Given the description of an element on the screen output the (x, y) to click on. 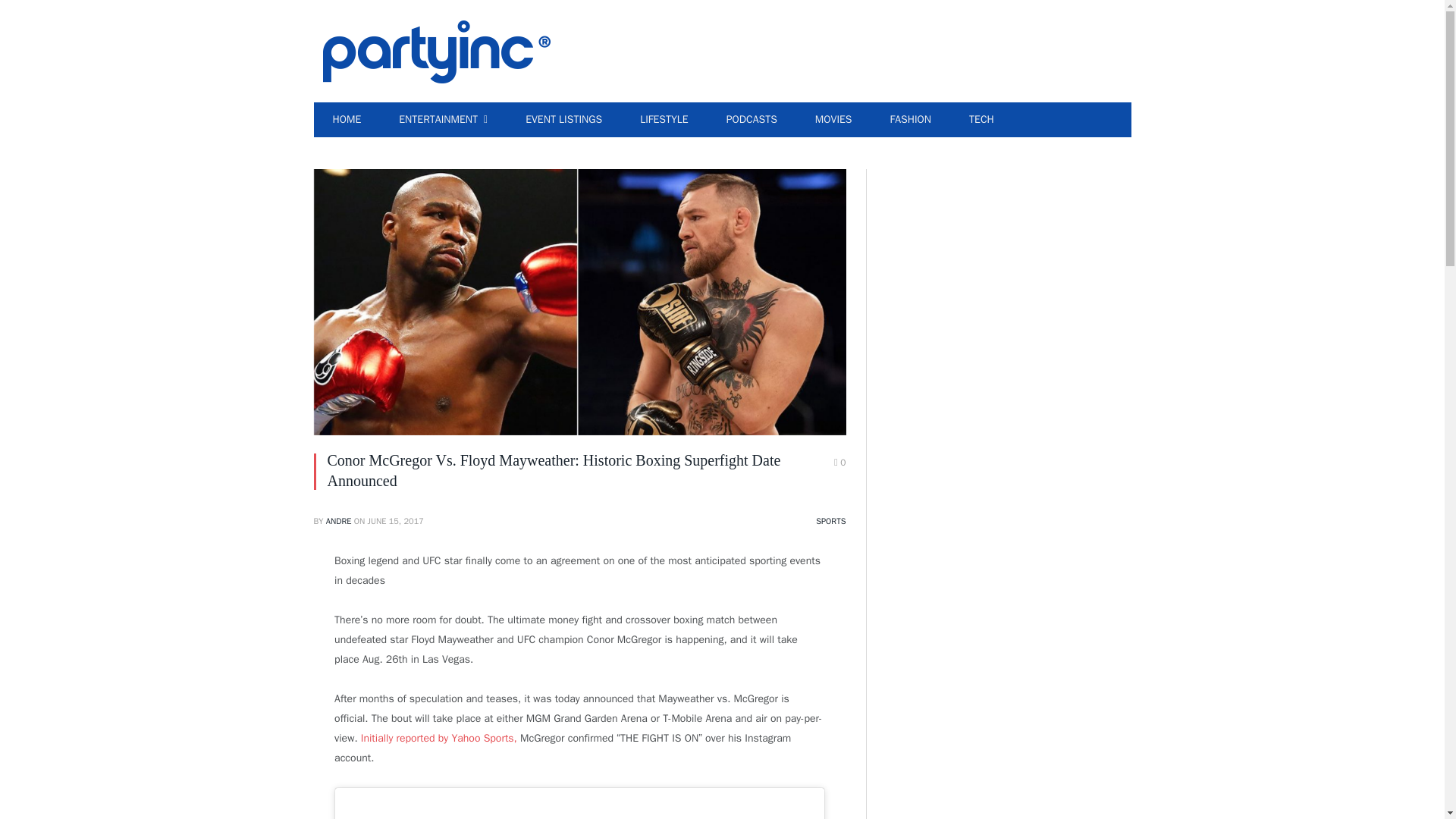
Initially reported by Yahoo Sports, (438, 738)
SPORTS (830, 520)
Posts by andre (339, 520)
FASHION (910, 119)
Home (347, 119)
LIFESTYLE (664, 119)
ENTERTAINMENT (443, 119)
HOME (347, 119)
TECH (981, 119)
MOVIES (833, 119)
PartyInc (436, 50)
EVENT LISTINGS (563, 119)
ANDRE (339, 520)
2017-06-15 (395, 520)
